Given the description of an element on the screen output the (x, y) to click on. 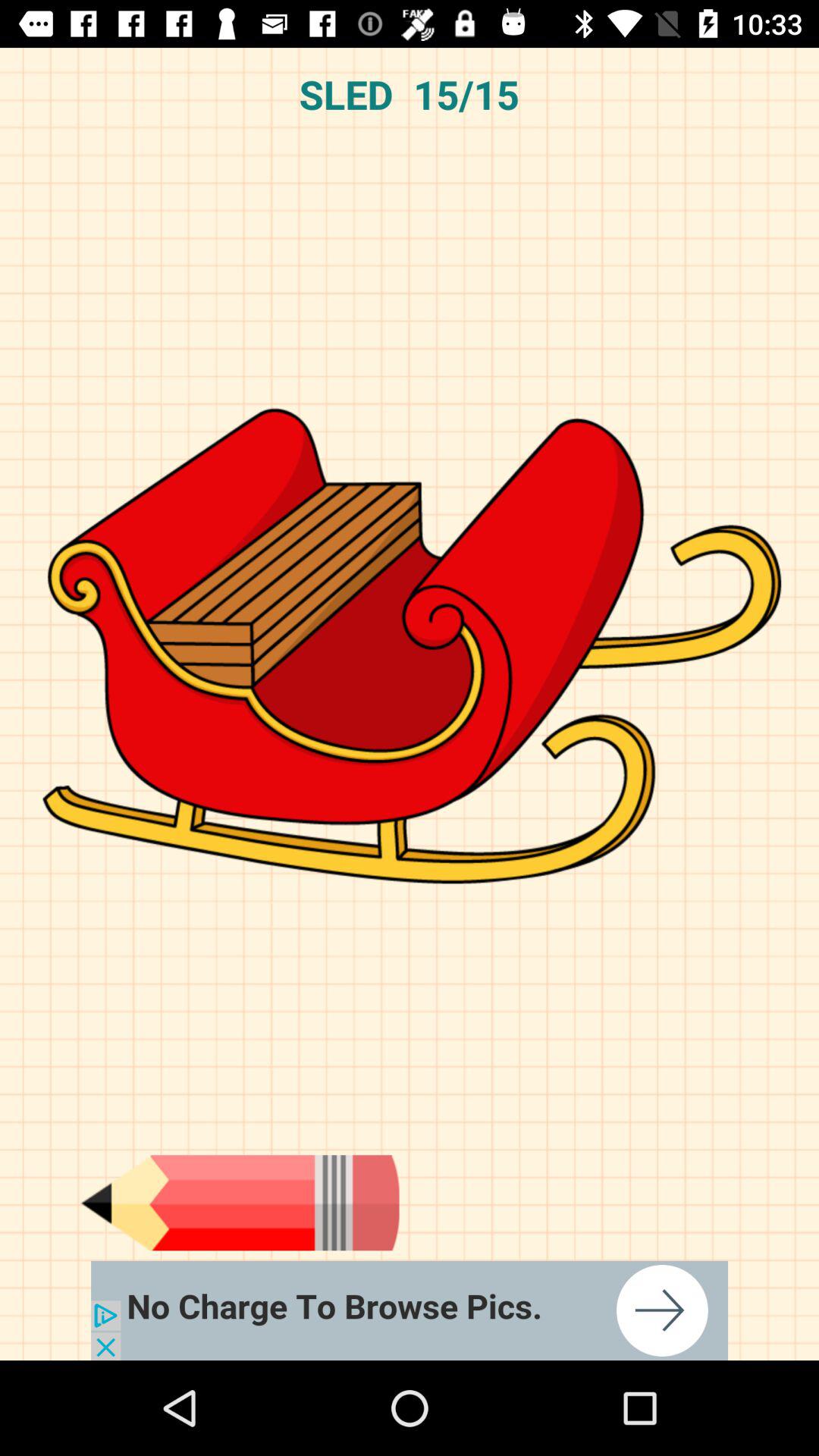
open advertisement (409, 1310)
